Given the description of an element on the screen output the (x, y) to click on. 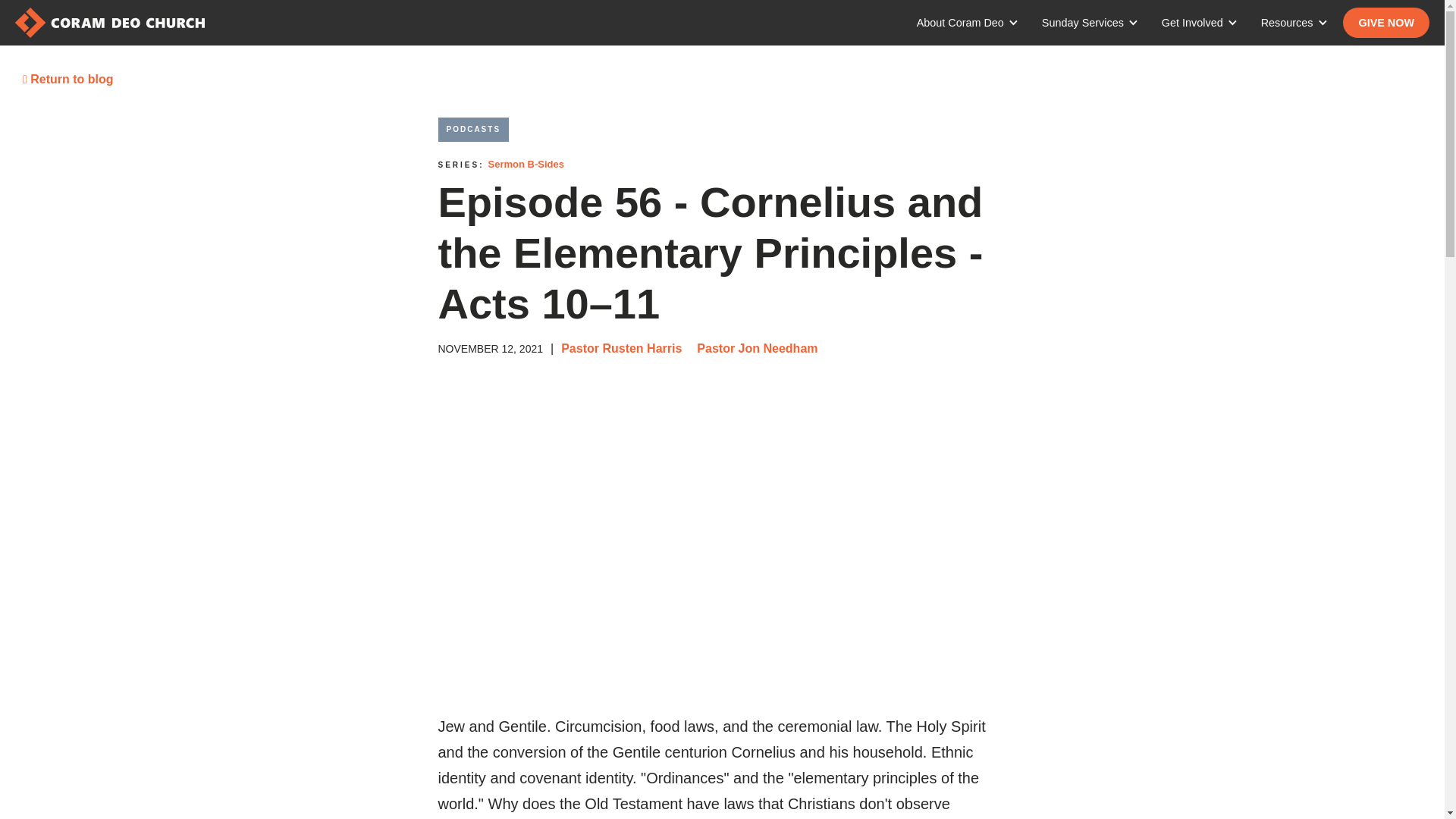
PODCASTS (473, 129)
Pastor Rusten Harris (620, 348)
GIVE NOW (1385, 22)
Pastor Jon Needham (756, 348)
Sermon B-Sides (525, 163)
